Given the description of an element on the screen output the (x, y) to click on. 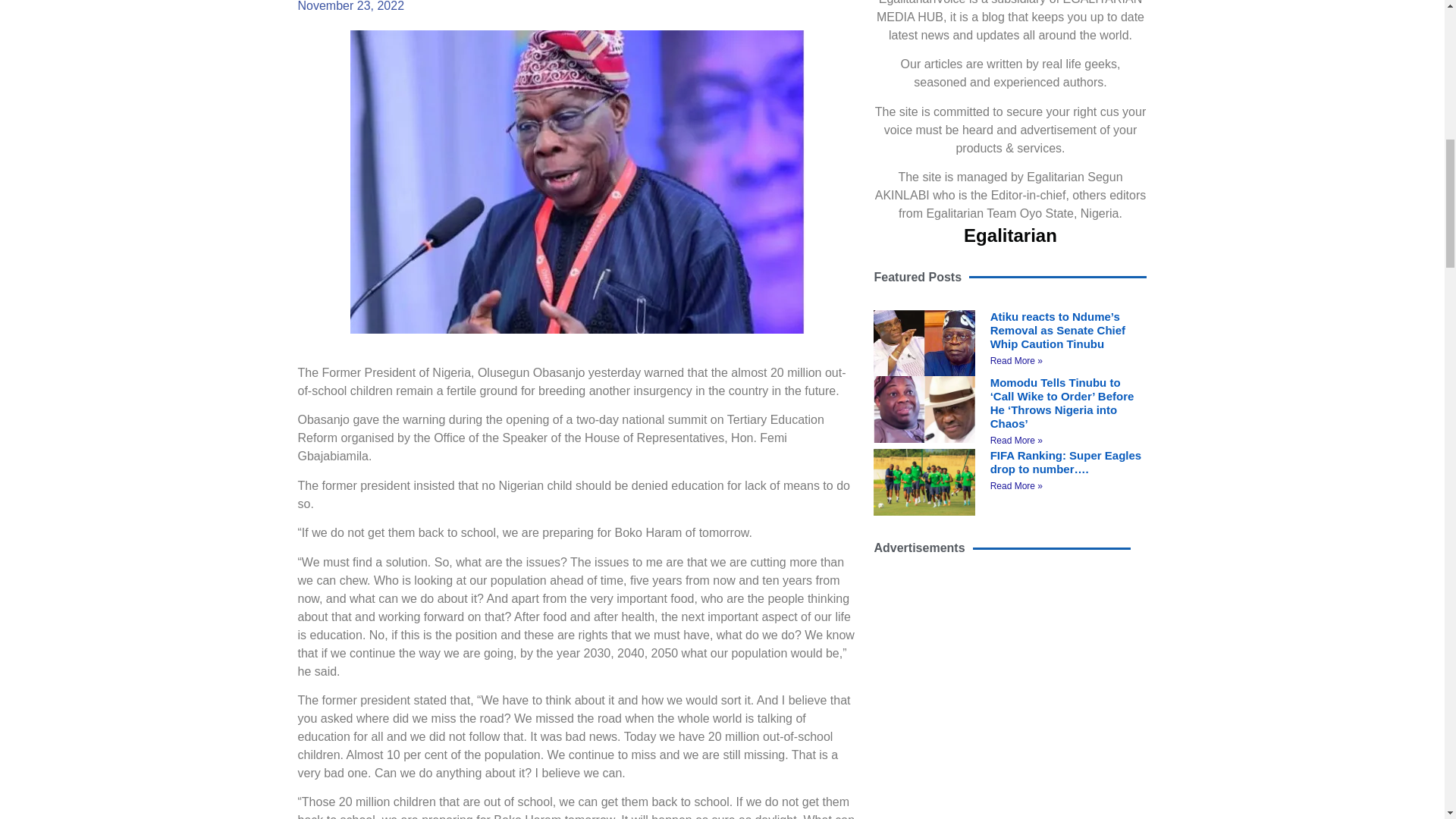
November 23, 2022 (350, 7)
